Given the description of an element on the screen output the (x, y) to click on. 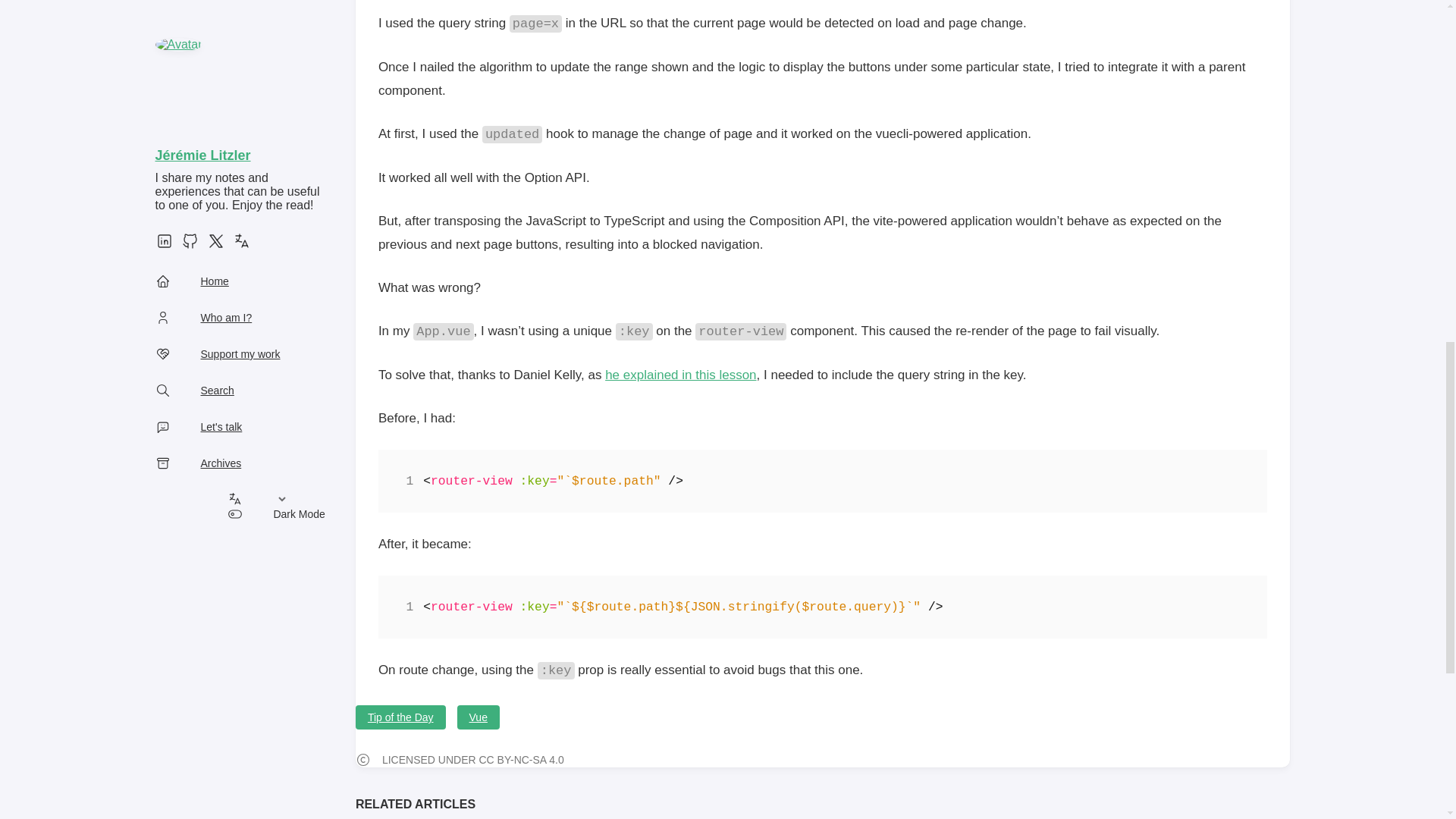
Tip of the Day (400, 717)
Vue (478, 717)
he explained in this lesson (680, 374)
